Given the description of an element on the screen output the (x, y) to click on. 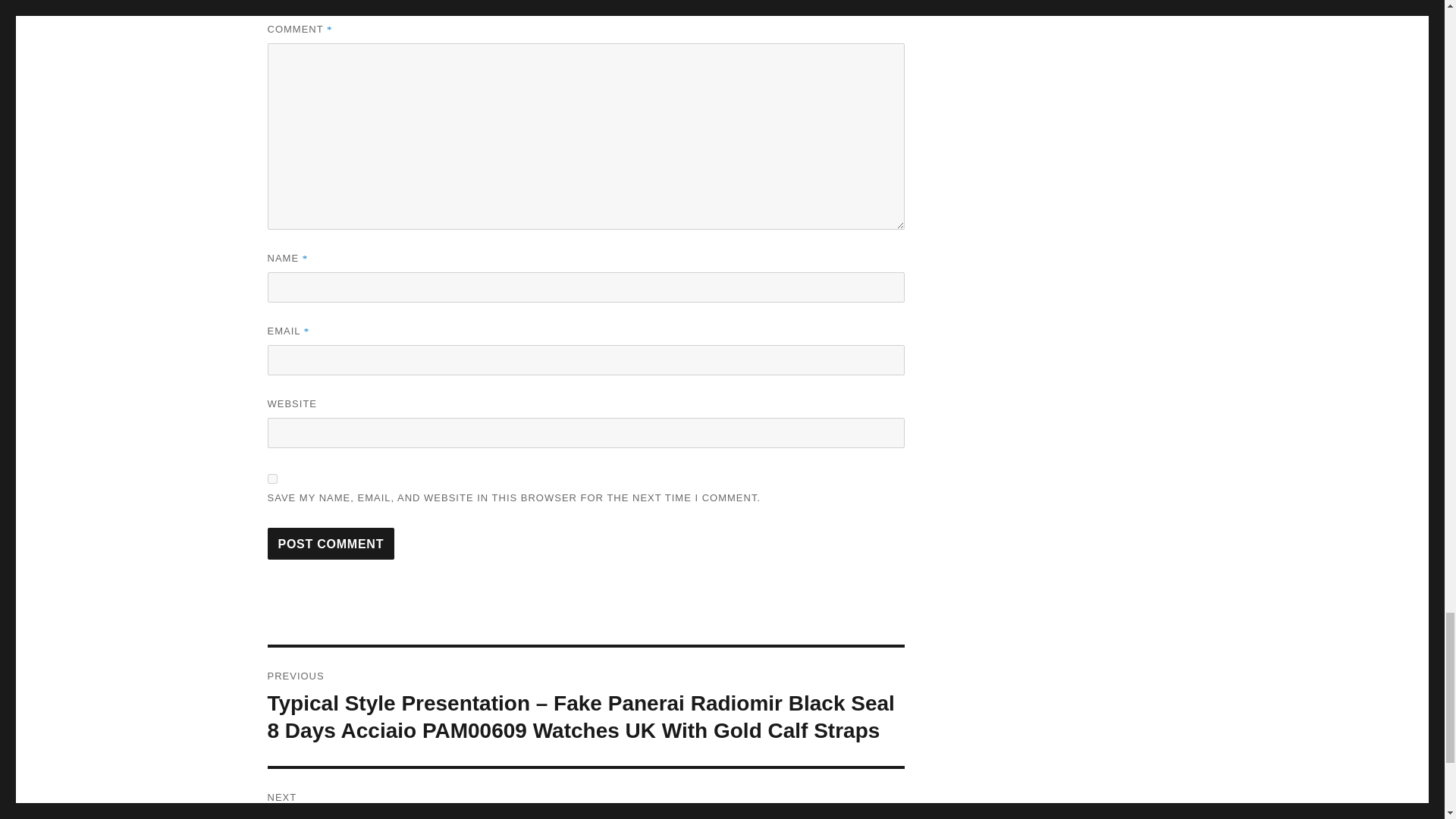
Post Comment (330, 543)
Post Comment (330, 543)
yes (271, 479)
